Given the description of an element on the screen output the (x, y) to click on. 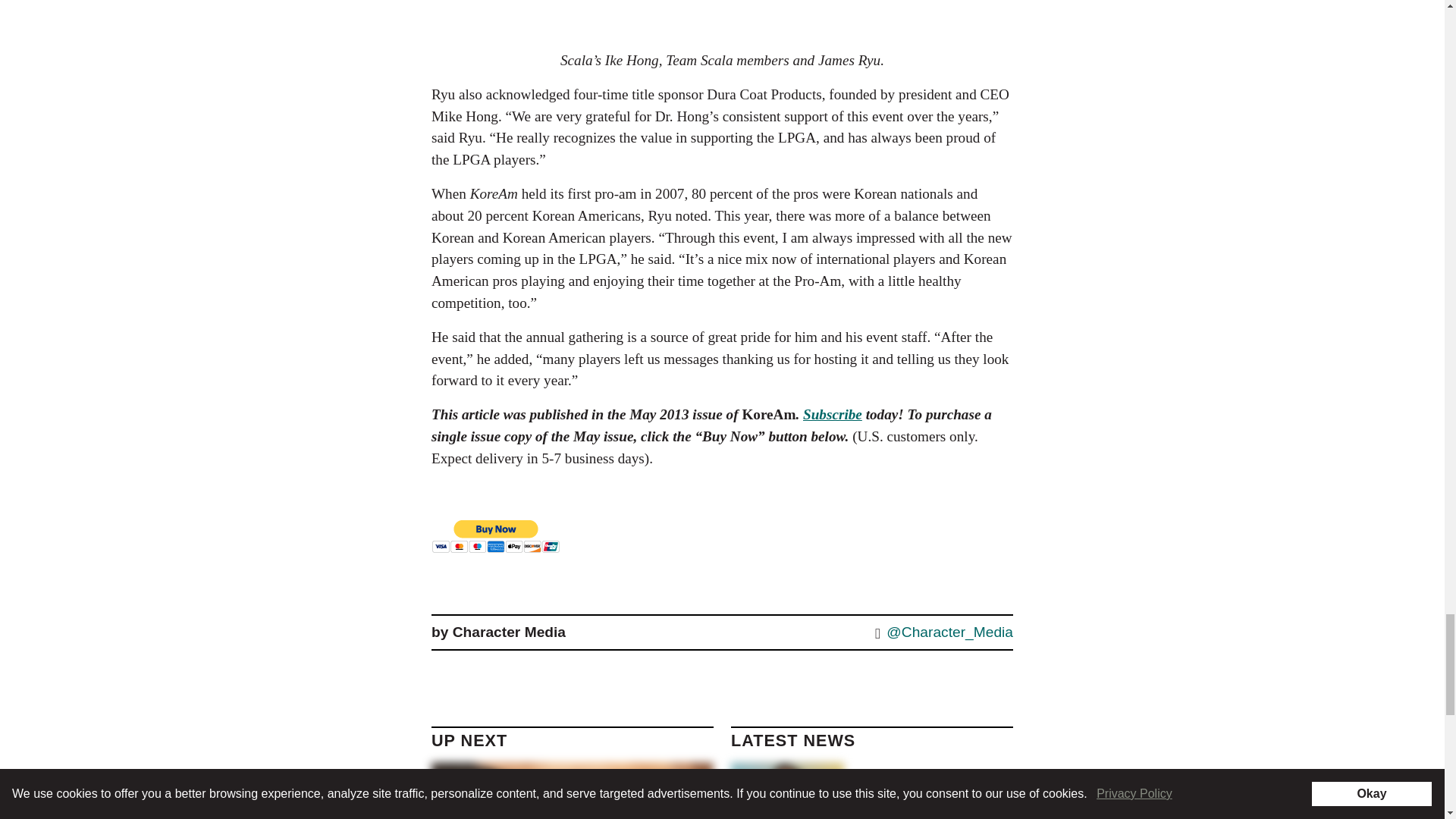
Character Media (509, 631)
Send a tweet to Character Media (941, 632)
Subscribe (832, 414)
